Given the description of an element on the screen output the (x, y) to click on. 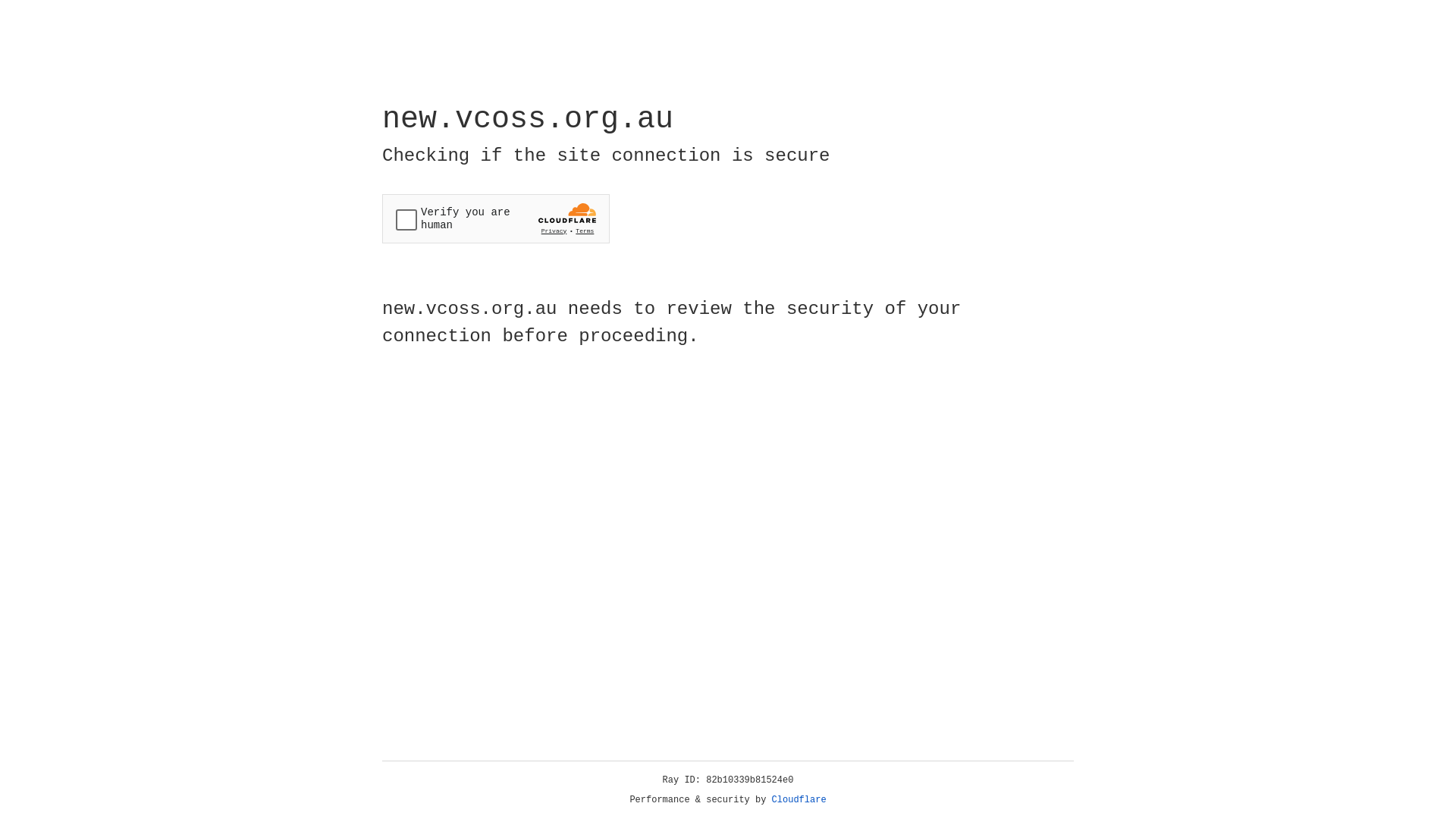
Cloudflare Element type: text (798, 799)
Widget containing a Cloudflare security challenge Element type: hover (495, 218)
